Given the description of an element on the screen output the (x, y) to click on. 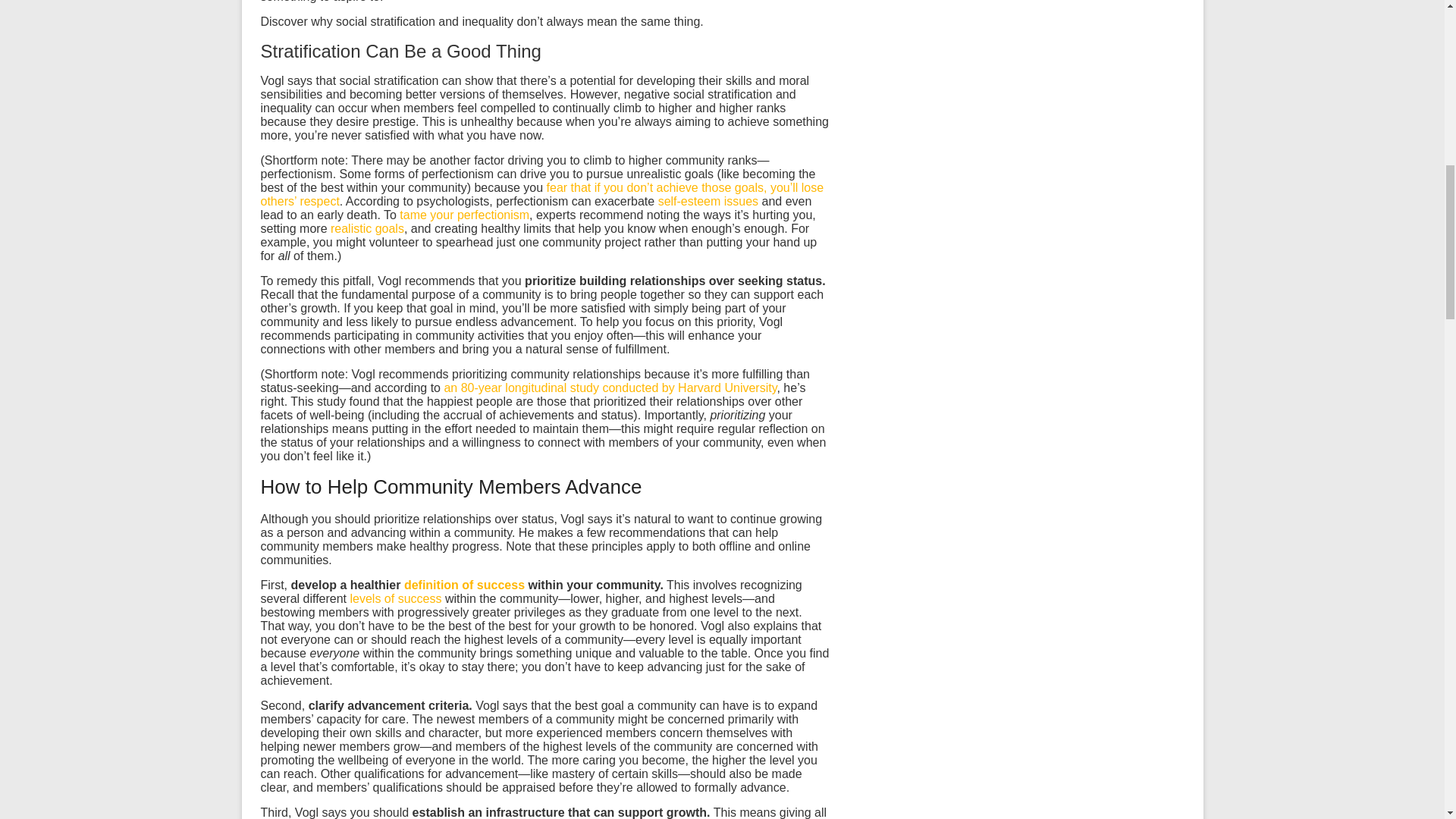
definition of success (464, 584)
levels of success (396, 598)
realistic goals (367, 228)
self-esteem issues (708, 201)
tame your perfectionism (463, 214)
